Given the description of an element on the screen output the (x, y) to click on. 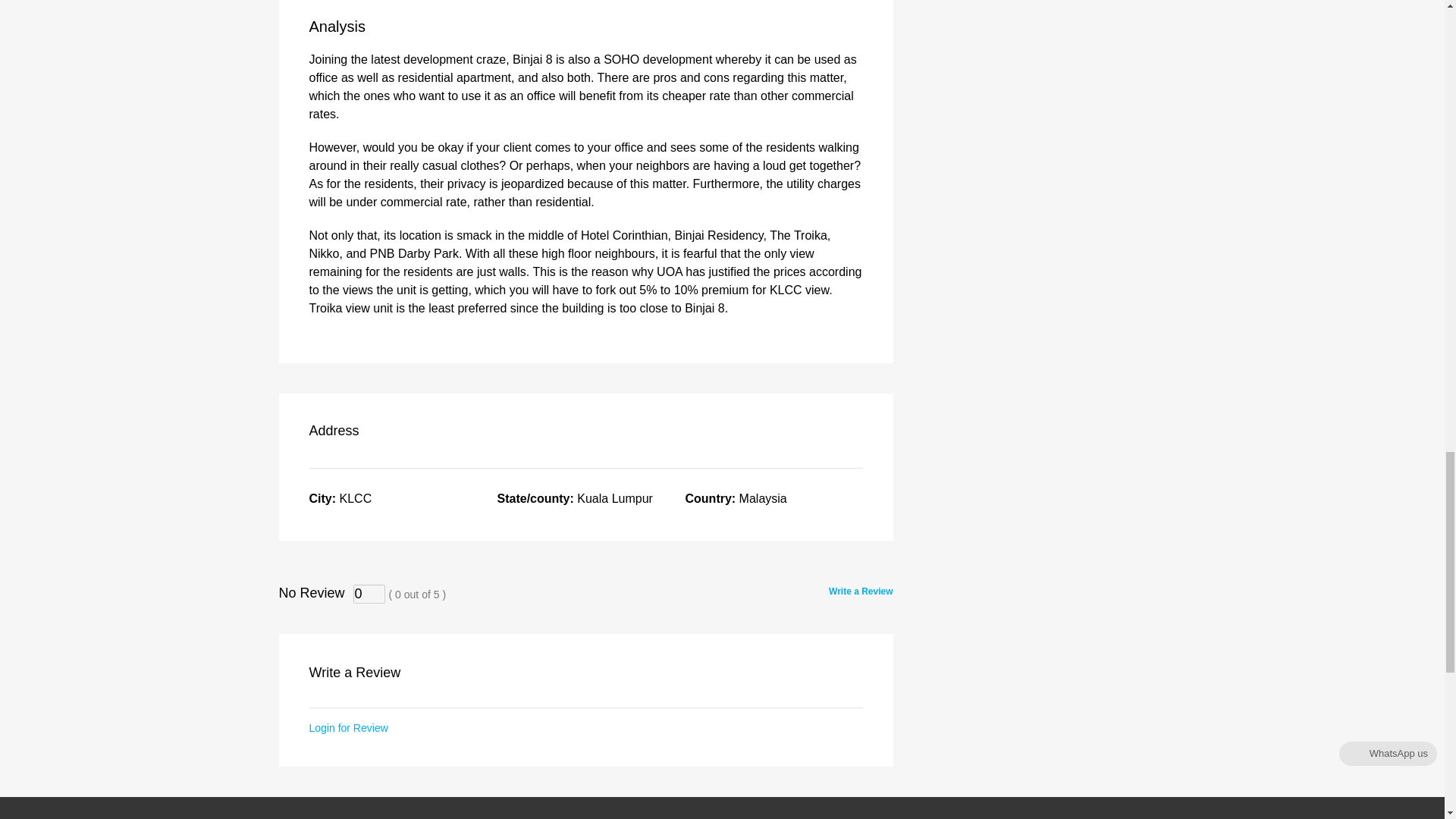
Write a Review (860, 591)
0 (369, 593)
Login for Review (348, 727)
